Given the description of an element on the screen output the (x, y) to click on. 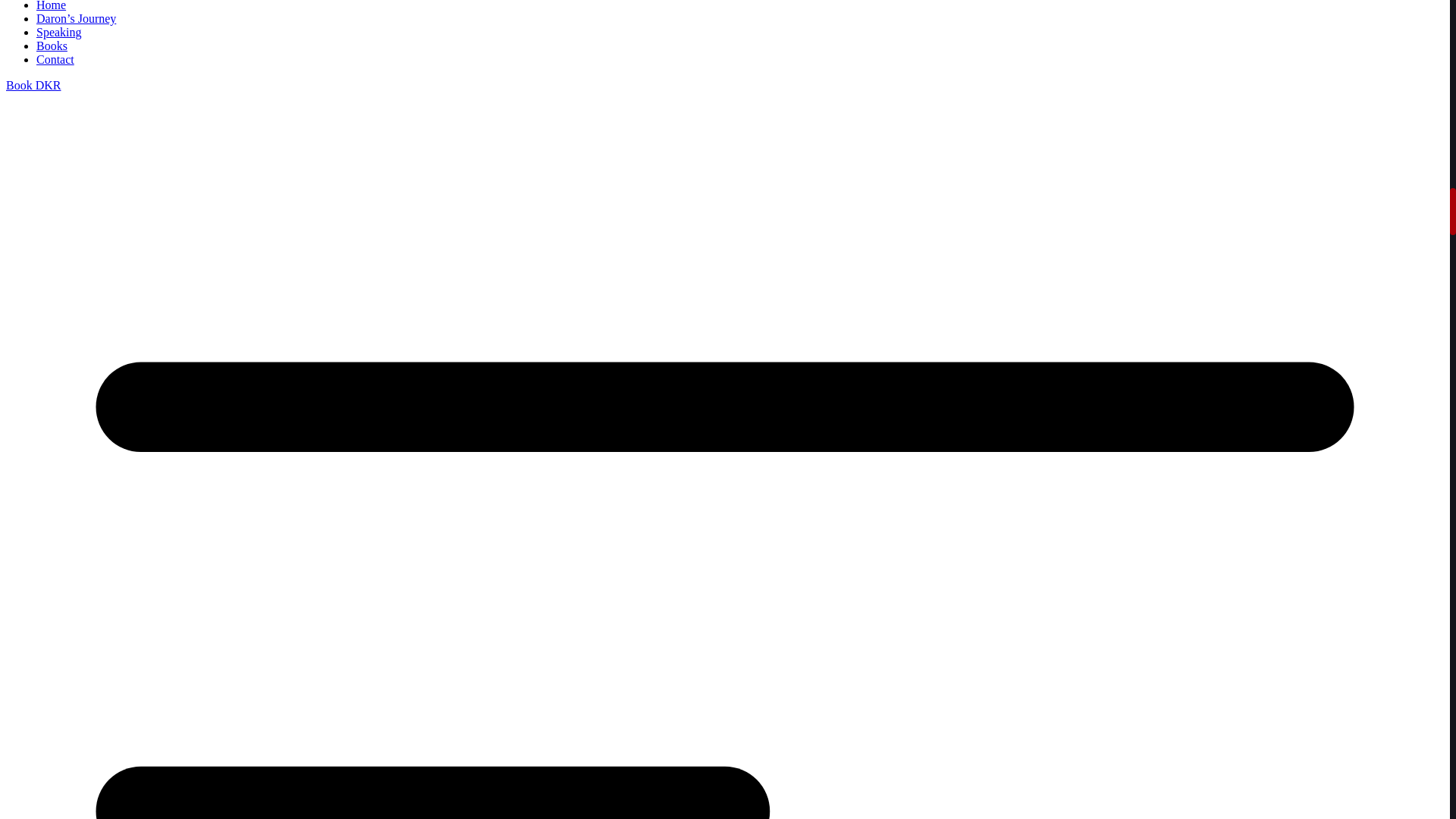
Home (50, 5)
Book DKR (33, 84)
Books (51, 45)
Contact (55, 59)
Speaking (58, 31)
